Given the description of an element on the screen output the (x, y) to click on. 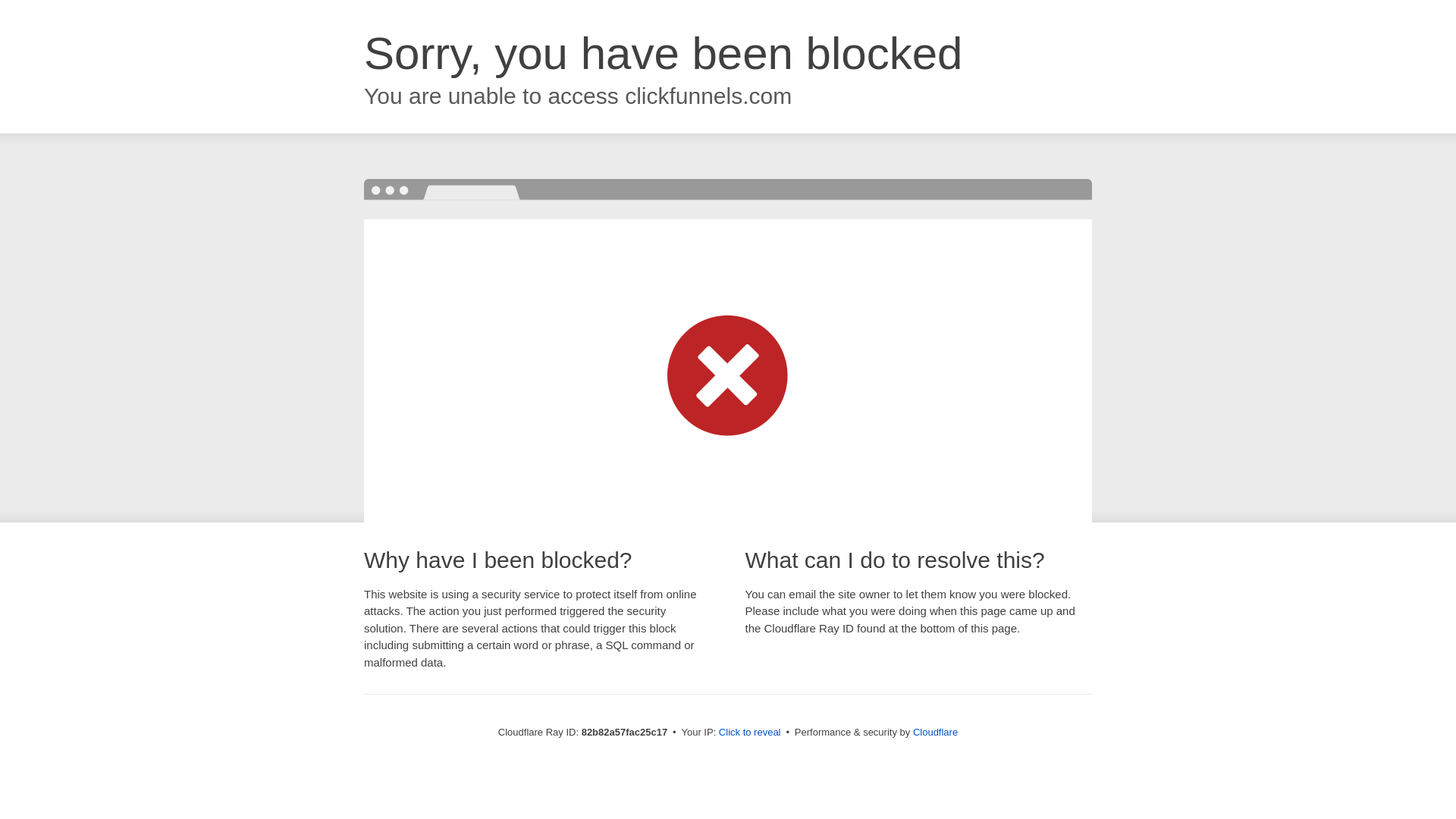
Click to reveal Element type: text (749, 732)
Cloudflare Element type: text (935, 731)
